Given the description of an element on the screen output the (x, y) to click on. 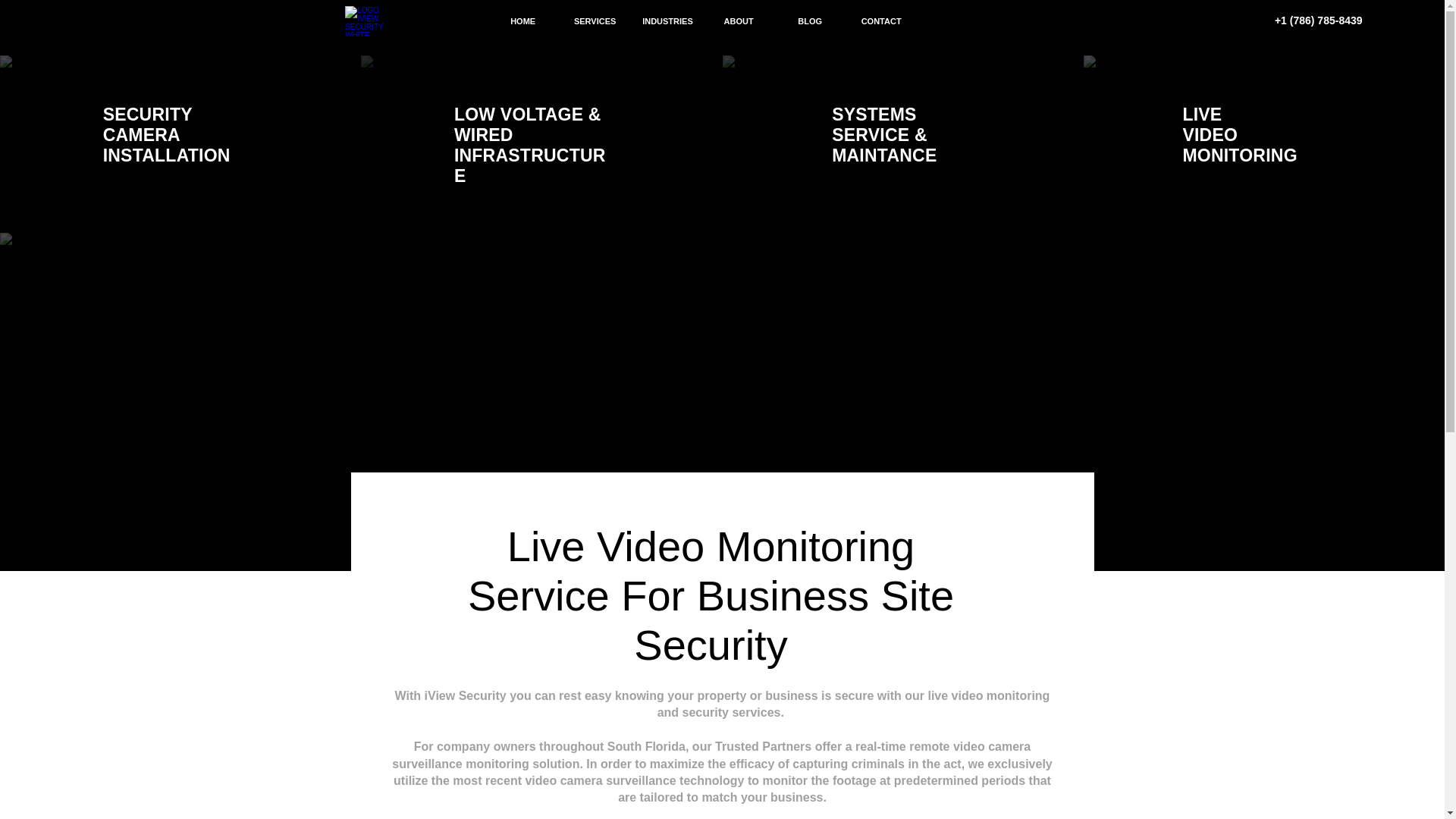
CONTACT (881, 21)
HOME (522, 21)
INDUSTRIES (666, 21)
BLOG (809, 21)
ABOUT (738, 21)
SERVICES (594, 21)
